Given the description of an element on the screen output the (x, y) to click on. 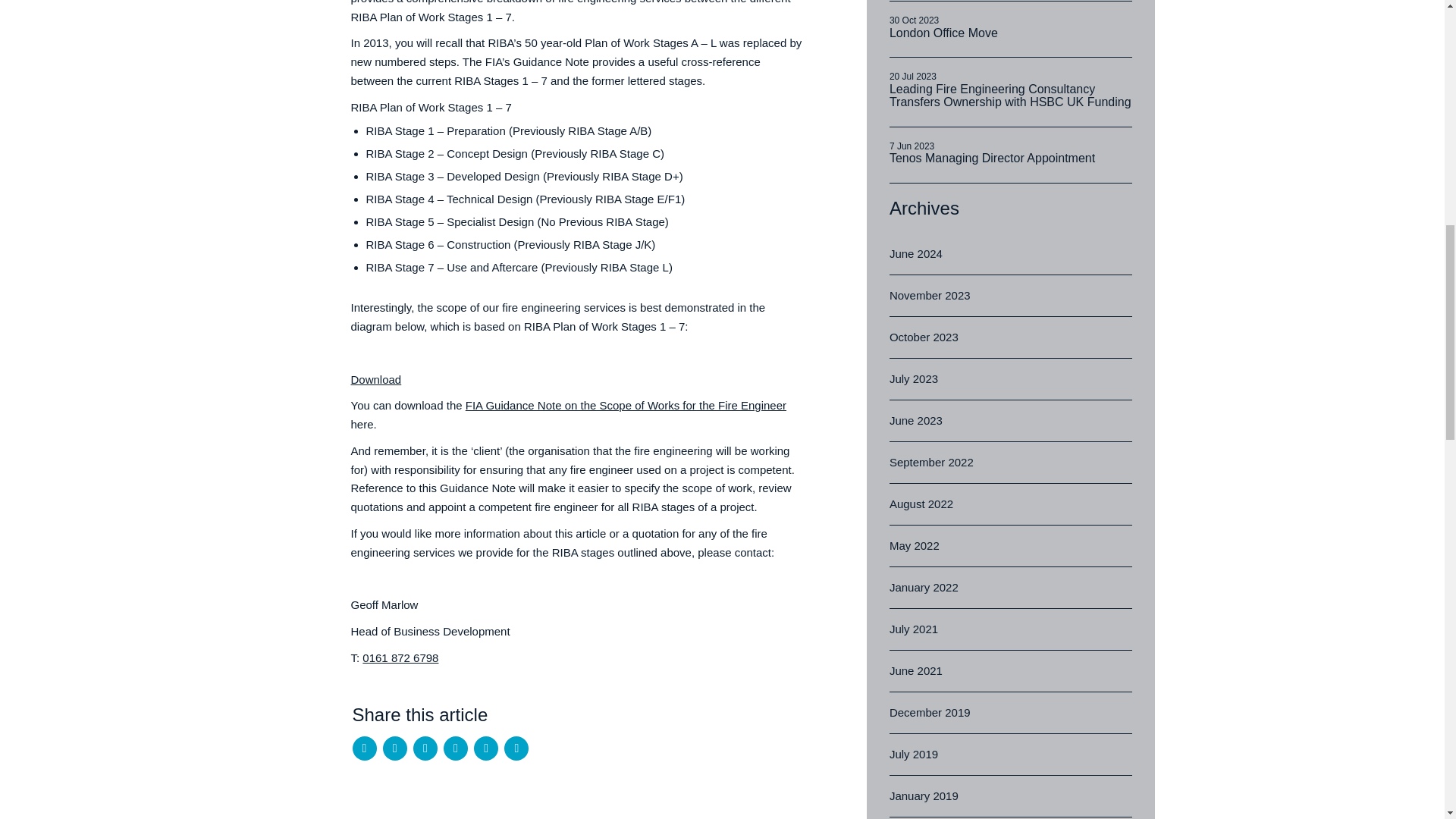
0161 872 6798 (400, 657)
London Office Move (1010, 155)
Download (1010, 29)
